Given the description of an element on the screen output the (x, y) to click on. 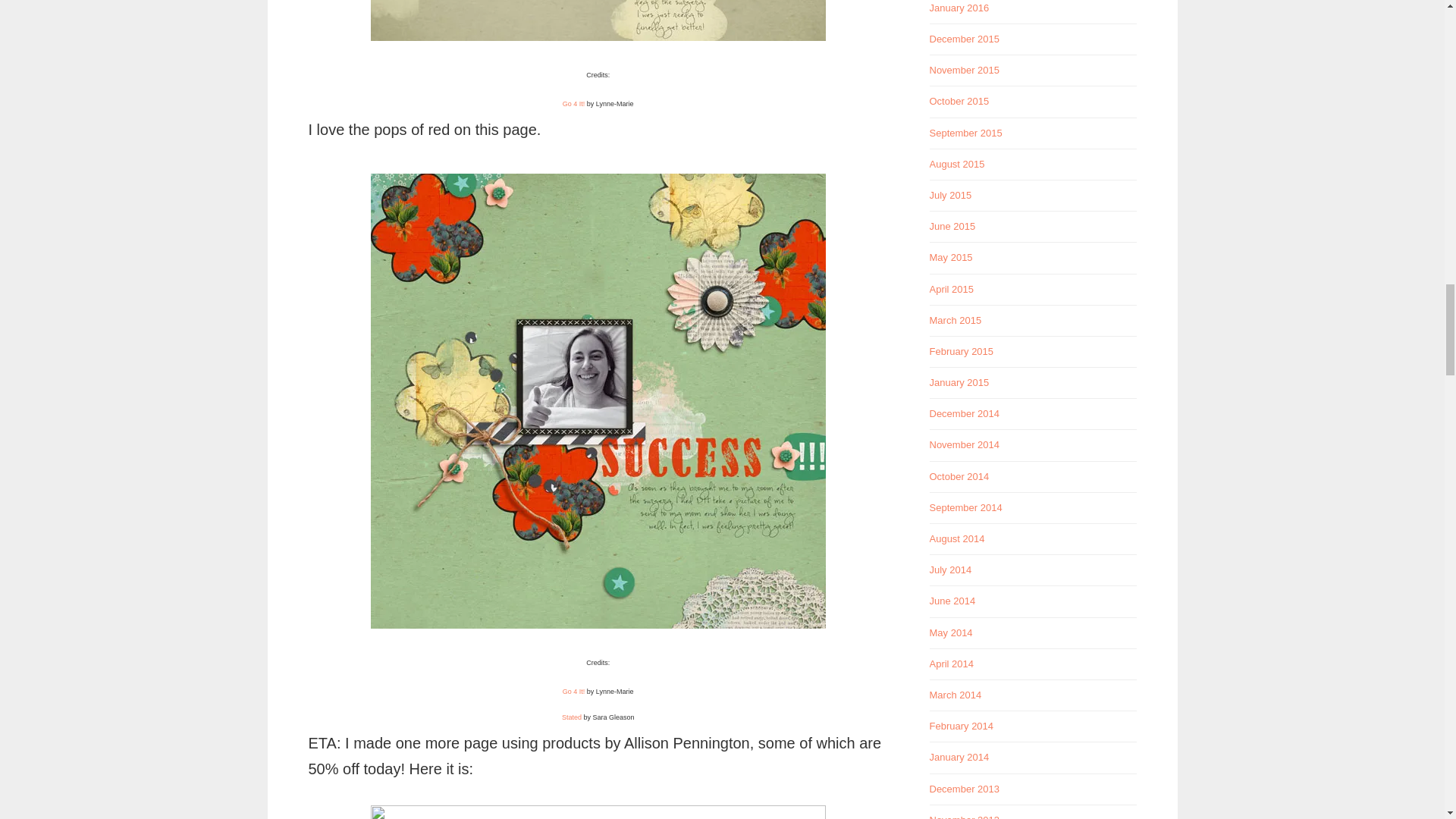
Stated (571, 717)
Go 4 It! (573, 691)
Go 4 It! (573, 103)
